Given the description of an element on the screen output the (x, y) to click on. 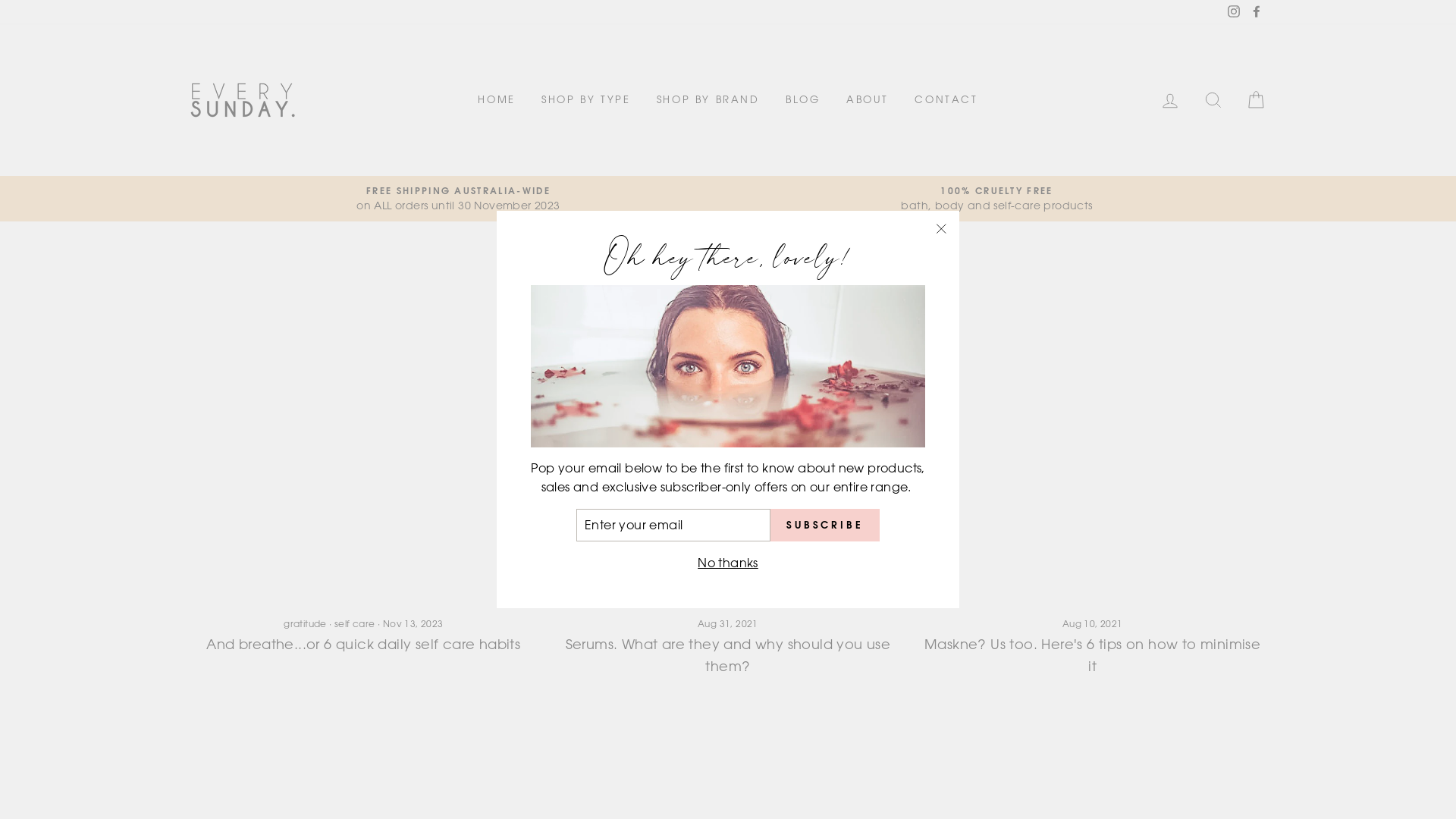
"Close (esc)" Element type: text (940, 228)
SEARCH Element type: text (1213, 99)
Skip to content Element type: text (0, 0)
SHOP BY BRAND Element type: text (708, 99)
self care Element type: text (354, 623)
ABOUT Element type: text (867, 99)
HOME Element type: text (490, 99)
Serums. What are they and why should you use them? Element type: text (728, 654)
Facebook Element type: text (1250, 12)
gratitude Element type: text (304, 623)
CART Element type: text (1255, 99)
SHOP BY TYPE Element type: text (580, 99)
BLOG Element type: text (802, 99)
Instagram Element type: text (1227, 12)
No thanks Element type: text (727, 563)
Maskne? Us too. Here's 6 tips on how to minimise it Element type: text (1092, 654)
LOG IN Element type: text (1169, 99)
And breathe...or 6 quick daily self care habits Element type: text (363, 643)
SUBSCRIBE Element type: text (824, 525)
CONTACT Element type: text (945, 99)
